Given the description of an element on the screen output the (x, y) to click on. 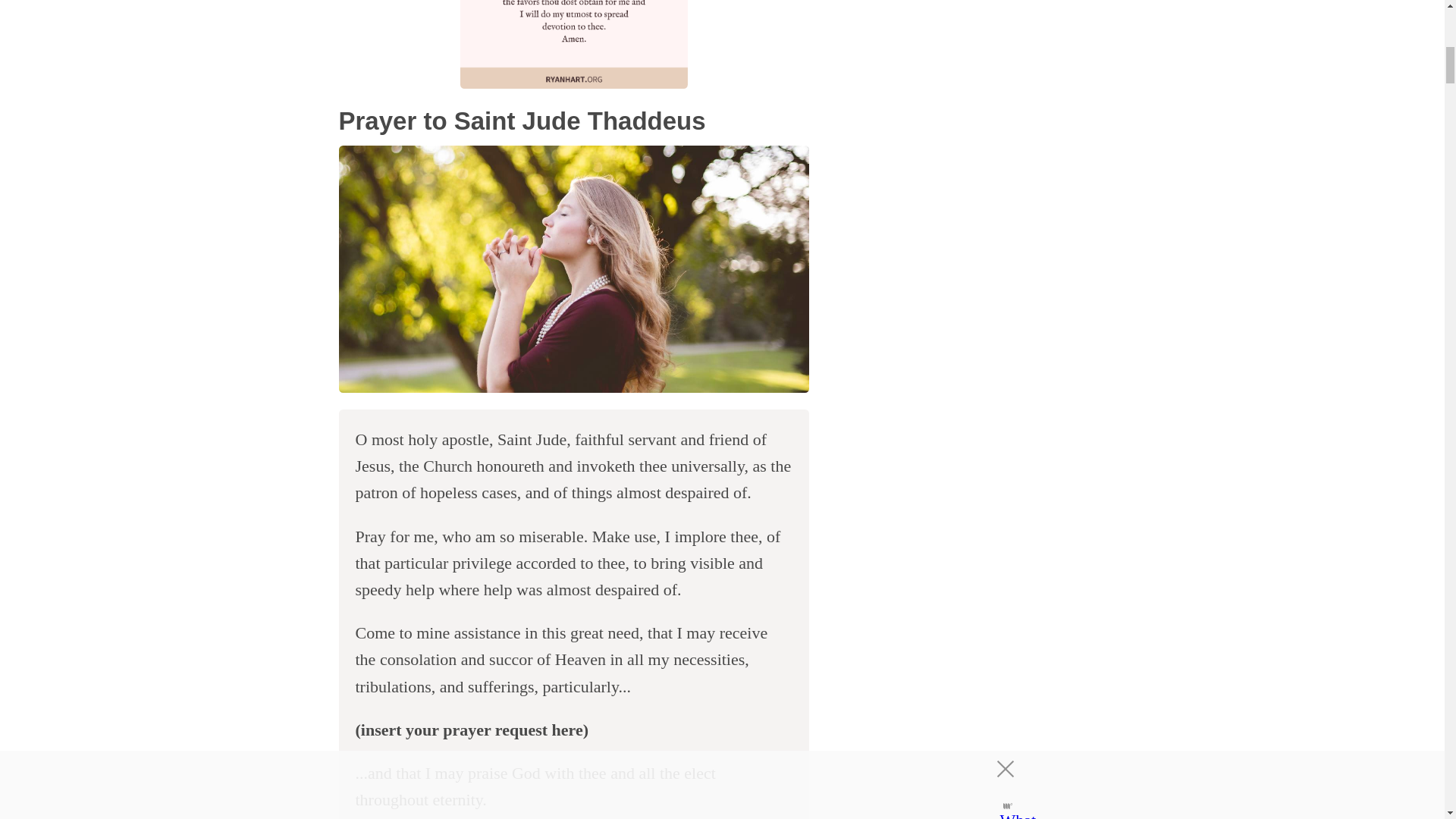
Prayer to Saint Jude (572, 269)
Prayer to Saint Jude Patron of Hopeless Cases (573, 44)
